Given the description of an element on the screen output the (x, y) to click on. 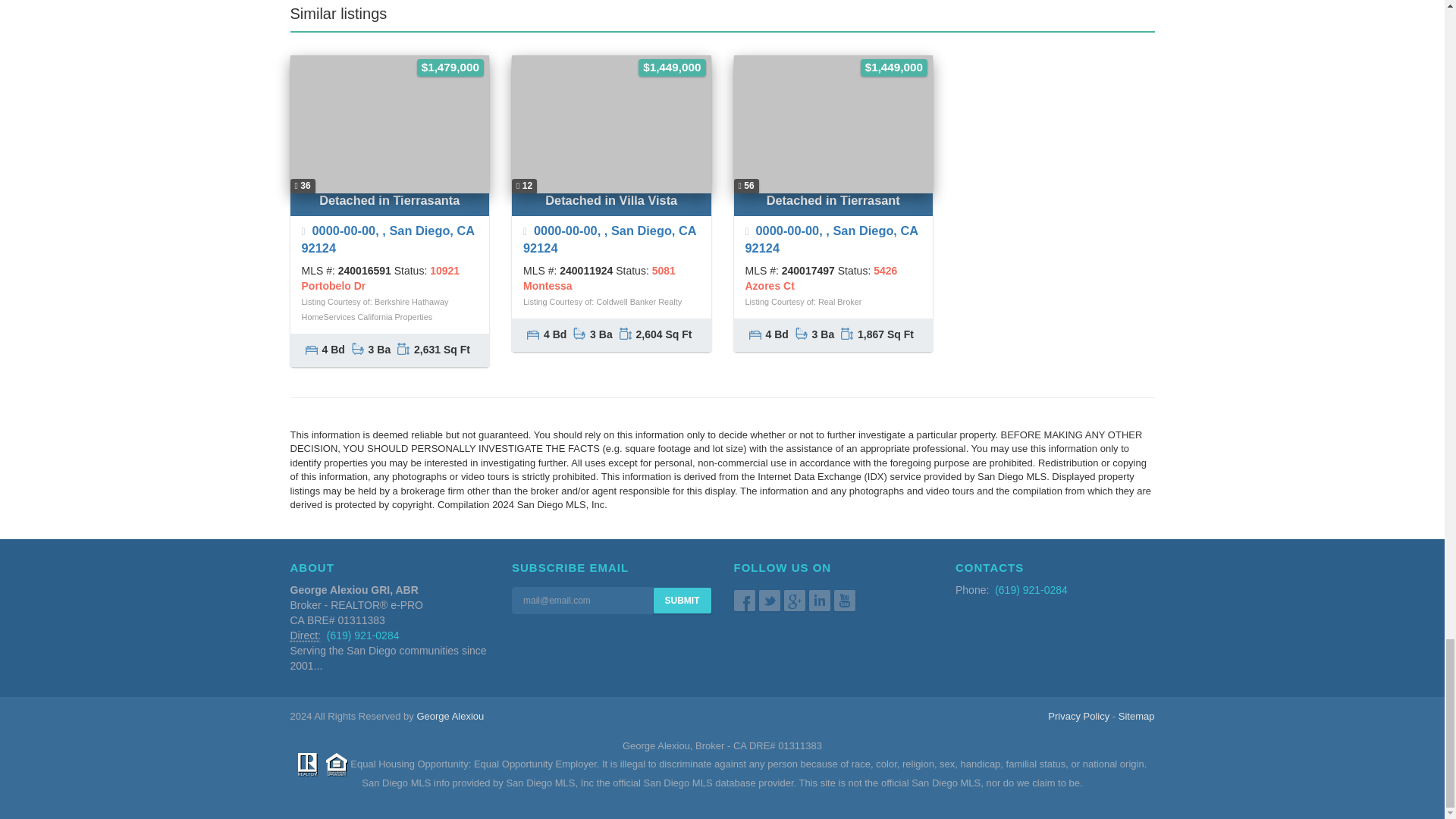
Phone (304, 635)
Listing Courtesy of: Real Broker (802, 301)
Listing Courtesy of: Coldwell Banker Realty (601, 301)
George Alexiou (449, 715)
